Given the description of an element on the screen output the (x, y) to click on. 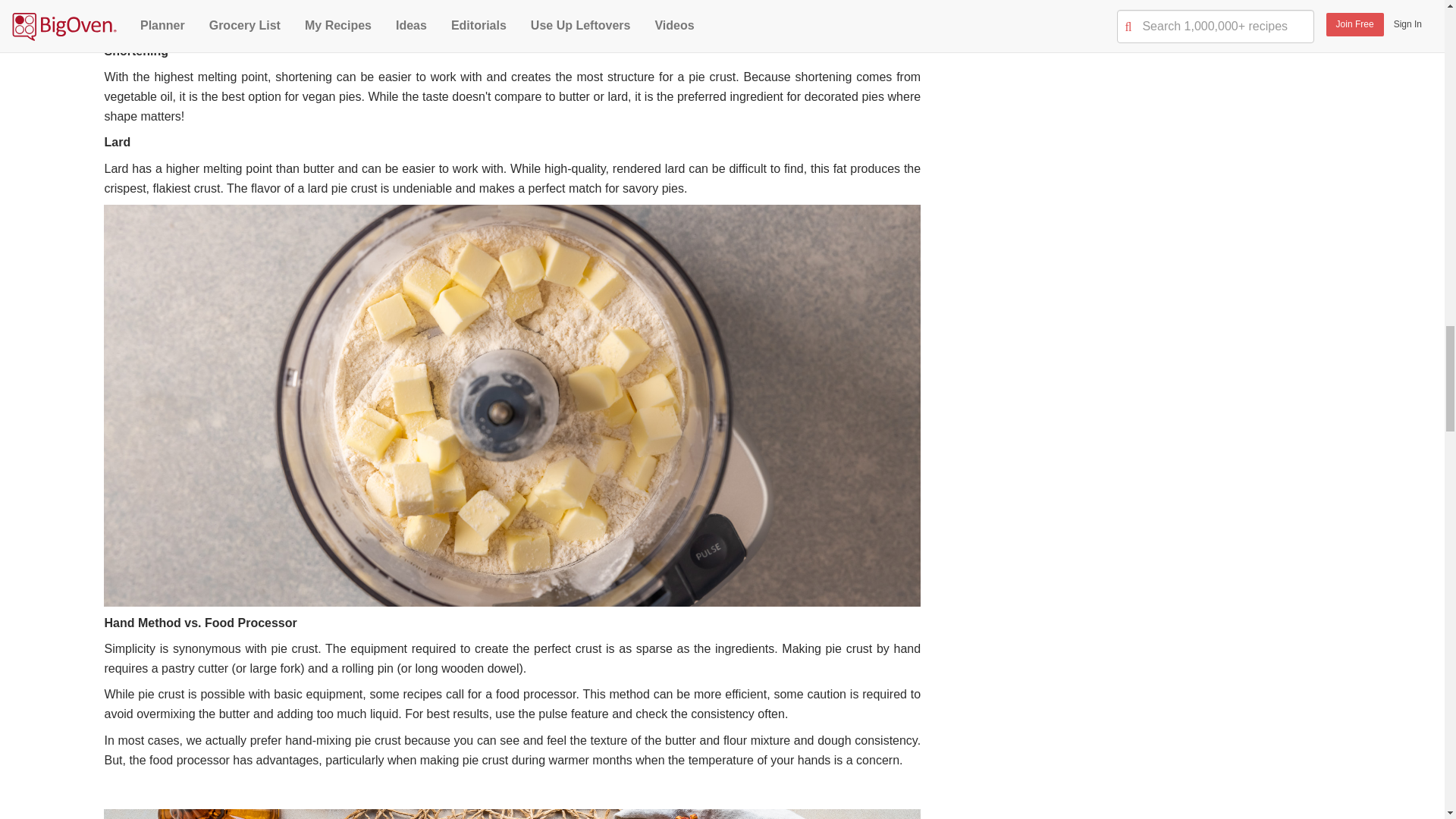
homemade-pie-crust (511, 814)
homemade-pie-crust (511, 11)
